Given the description of an element on the screen output the (x, y) to click on. 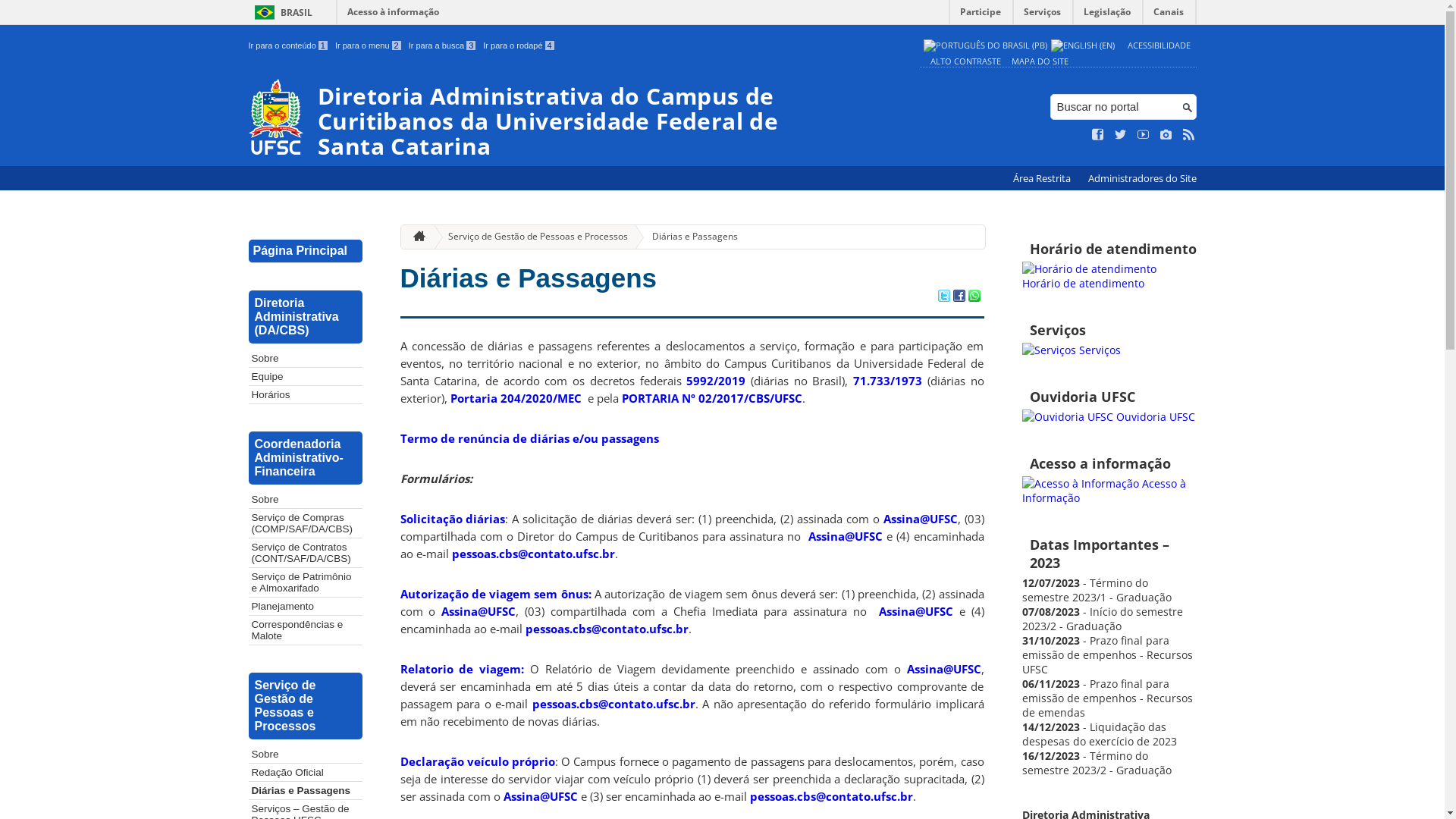
Portaria 204/2020/MEC Element type: text (515, 397)
Ir para a busca 3 Element type: text (442, 45)
Siga no Twitter Element type: hover (1120, 134)
Ir para o menu 2 Element type: text (368, 45)
Ouvidoria da UFSC Element type: hover (1067, 416)
MAPA DO SITE Element type: text (1039, 60)
Assina@UFSC Element type: text (478, 610)
pessoas.cbs@contato.ufsc.br Element type: text (830, 795)
pessoas.cbs@contato.ufsc.br Element type: text (533, 553)
Compartilhar no Facebook Element type: hover (958, 296)
pessoas.cbs@contato.ufsc.br Element type: text (605, 628)
English (en) Element type: hover (1082, 44)
Compartilhar no WhatsApp Element type: hover (973, 296)
5992/2019 Element type: text (715, 380)
Veja no Instagram Element type: hover (1166, 134)
Assina@UFSC Element type: text (540, 795)
pessoas.cbs@contato.ufsc.br Element type: text (613, 703)
Administradores do Site Element type: text (1141, 178)
Curta no Facebook Element type: hover (1098, 134)
Planejamento Element type: text (305, 606)
Assina@UFSC Element type: text (915, 610)
71.733/1973 Element type: text (887, 380)
Sobre Element type: text (305, 753)
Participe Element type: text (980, 15)
ACESSIBILIDADE Element type: text (1158, 44)
Sobre Element type: text (305, 499)
Canais Element type: text (1169, 15)
Assina@UFSC Element type: text (845, 535)
Assina@UFSC Element type: text (943, 668)
BRASIL Element type: text (280, 12)
Ouvidoria UFSC Element type: text (1108, 416)
ALTO CONTRASTE Element type: text (964, 60)
Relatorio de viagem: Element type: text (462, 668)
Assina@UFSC Element type: text (920, 518)
Compartilhar no Twitter Element type: hover (943, 296)
Sobre Element type: text (305, 358)
Equipe Element type: text (305, 376)
